Given the description of an element on the screen output the (x, y) to click on. 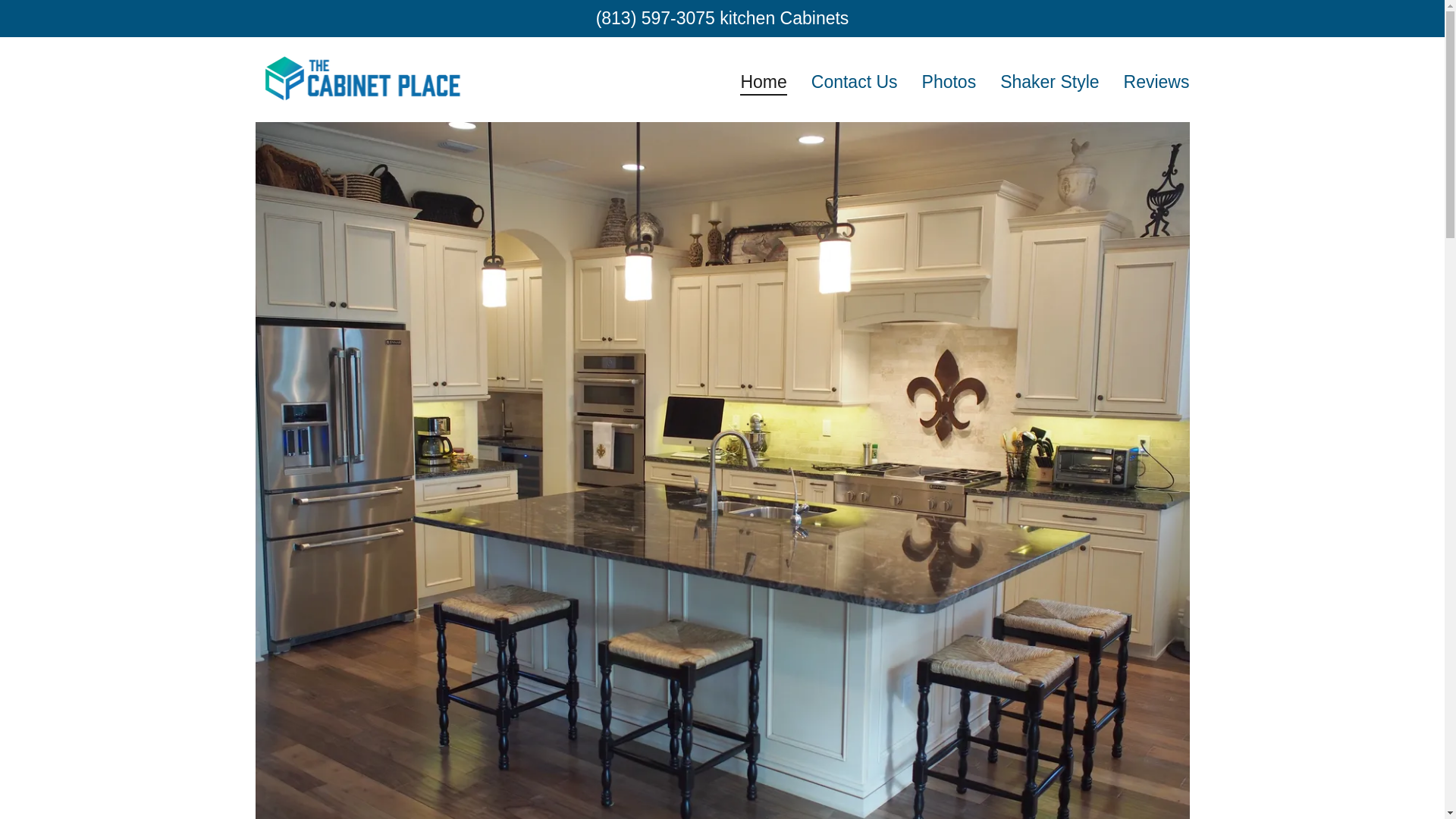
Reviews (1156, 80)
Home (762, 83)
Contact Us (854, 80)
The Cabinet Place of Tampa Bay (360, 77)
Photos (949, 80)
Shaker Style (1049, 80)
